Given the description of an element on the screen output the (x, y) to click on. 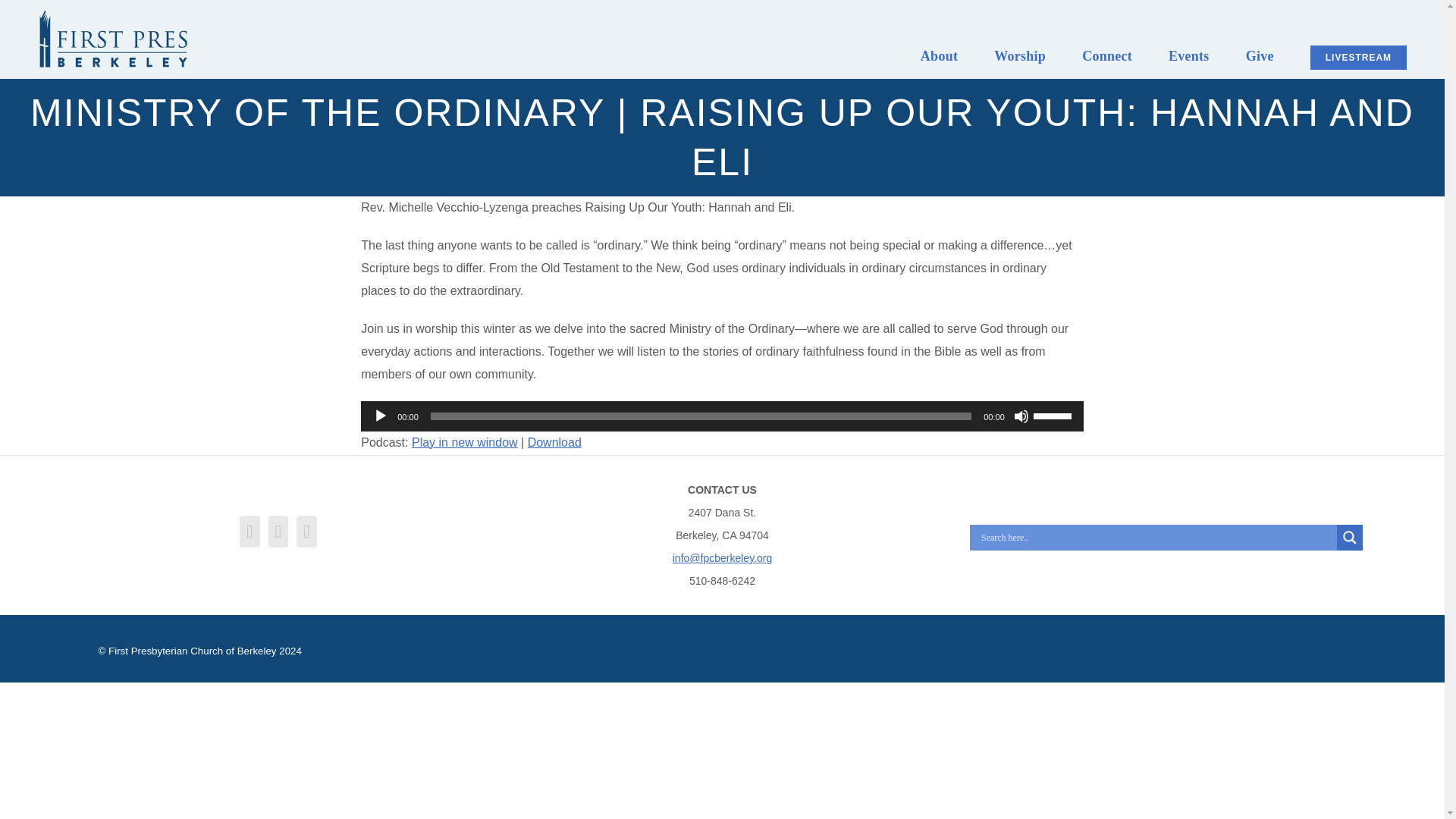
Play (380, 416)
Connect (1106, 57)
Give (1260, 57)
Events (1189, 57)
Play in new window (465, 441)
LIVESTREAM (1358, 57)
Worship (1019, 57)
Mute (1021, 416)
About (939, 57)
Download (553, 441)
